Given the description of an element on the screen output the (x, y) to click on. 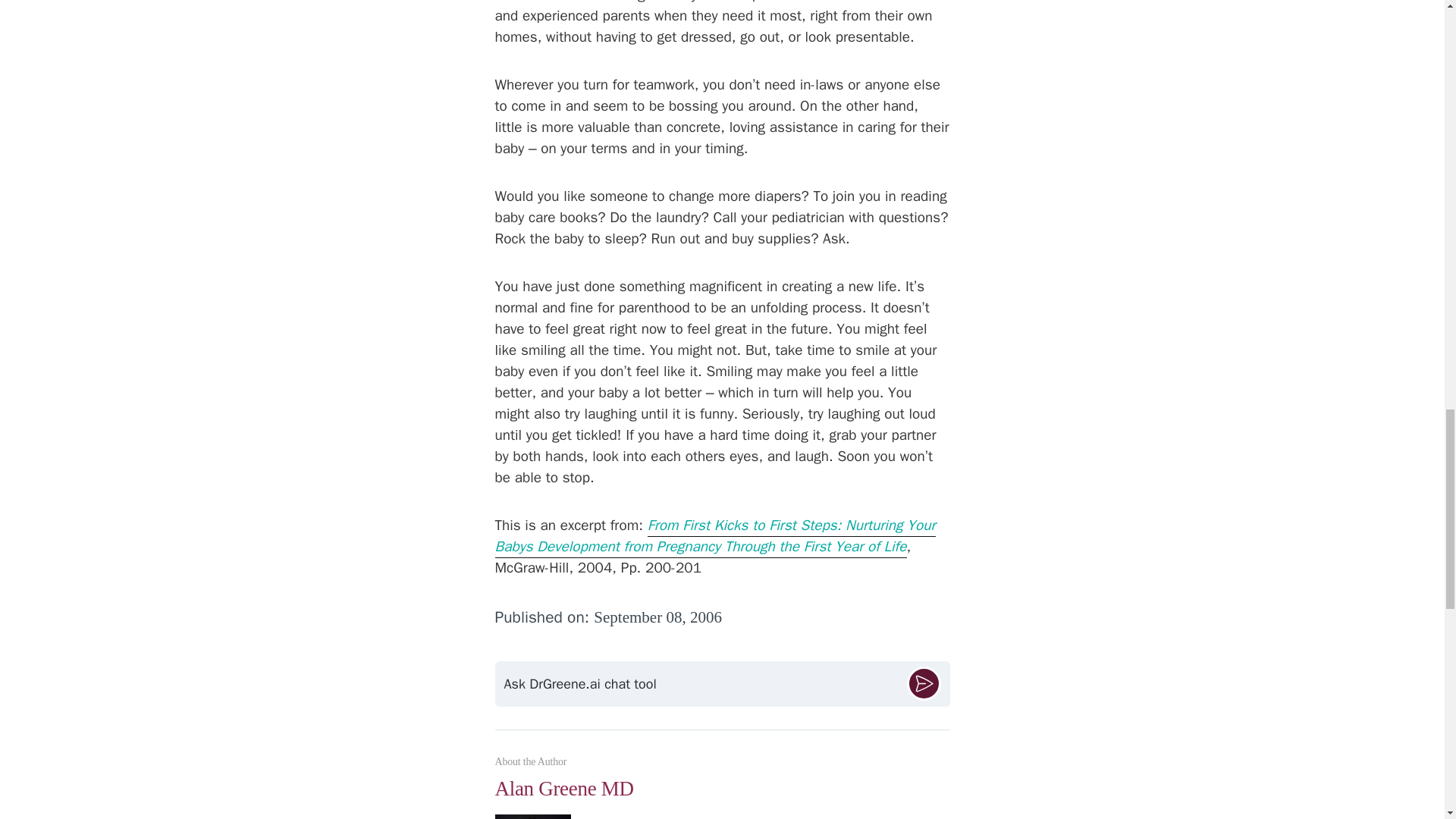
national (821, 818)
author (780, 818)
Alan Greene MD (722, 795)
